Given the description of an element on the screen output the (x, y) to click on. 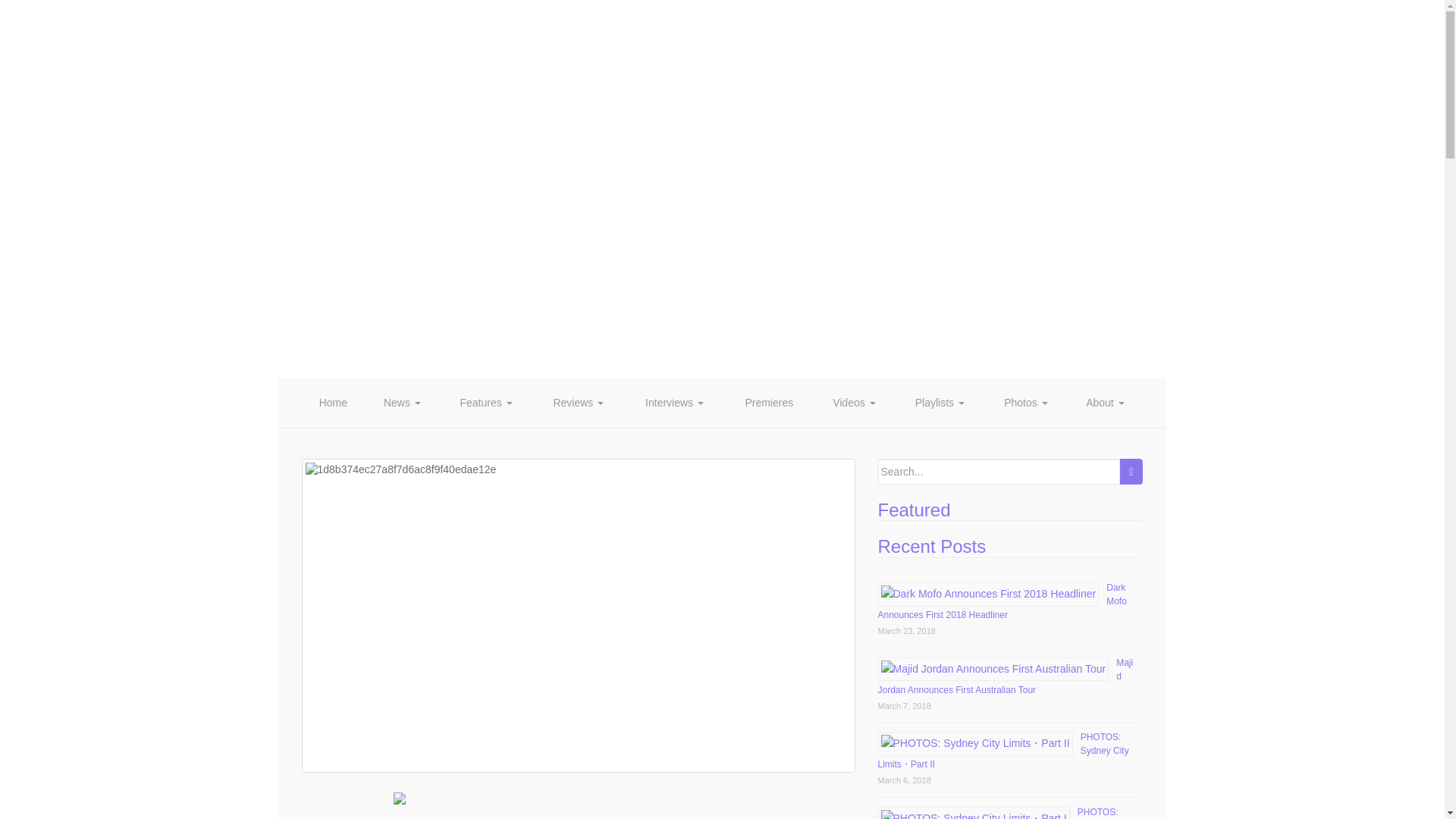
Videos (854, 402)
Home (333, 402)
Features (485, 402)
Home (333, 402)
News (402, 402)
Interviews (674, 402)
Reviews (578, 402)
Features (485, 402)
Reviews (578, 402)
Premieres (769, 402)
